Given the description of an element on the screen output the (x, y) to click on. 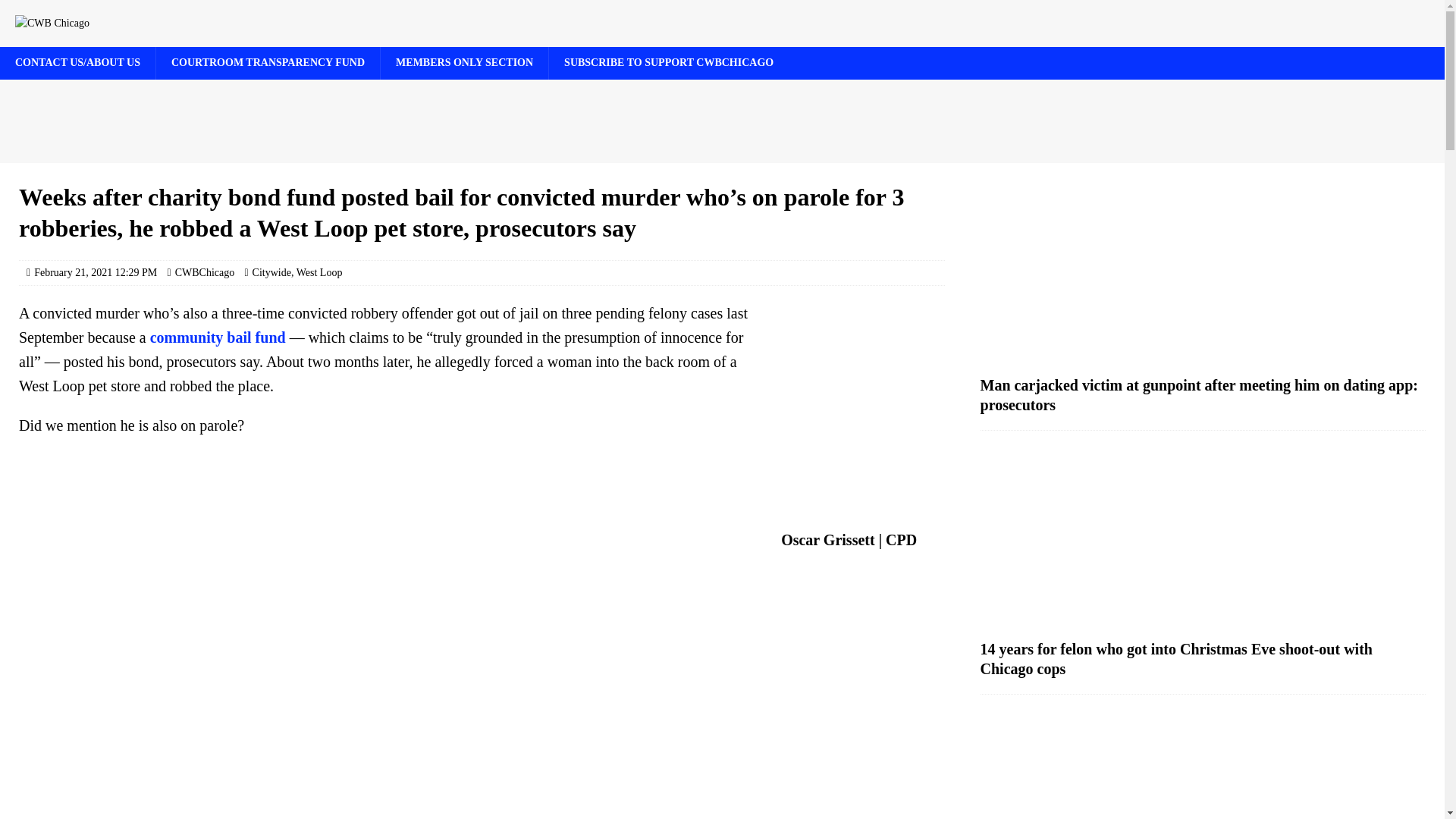
West Loop (319, 272)
community bail fund (217, 337)
Citywide (271, 272)
COURTROOM TRANSPARENCY FUND (267, 62)
February 21, 2021 12:29 PM (95, 272)
MEMBERS ONLY SECTION (464, 62)
CWBChicago (204, 272)
SUBSCRIBE TO SUPPORT CWBCHICAGO (668, 62)
